Given the description of an element on the screen output the (x, y) to click on. 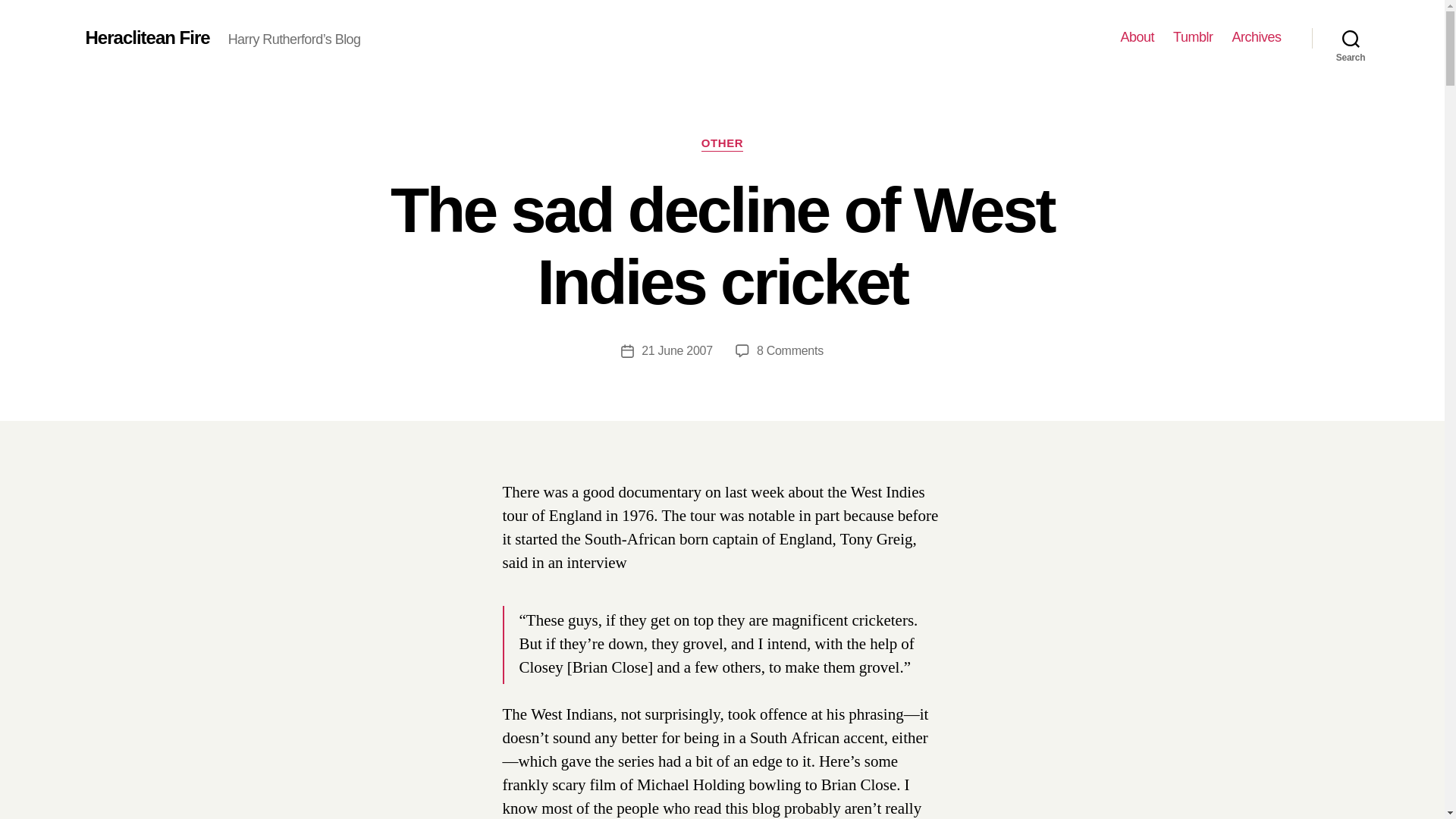
Search (1350, 37)
21 June 2007 (790, 350)
About (677, 350)
Heraclitean Fire (1137, 37)
Tumblr (146, 37)
Archives (1192, 37)
OTHER (1256, 37)
